Given the description of an element on the screen output the (x, y) to click on. 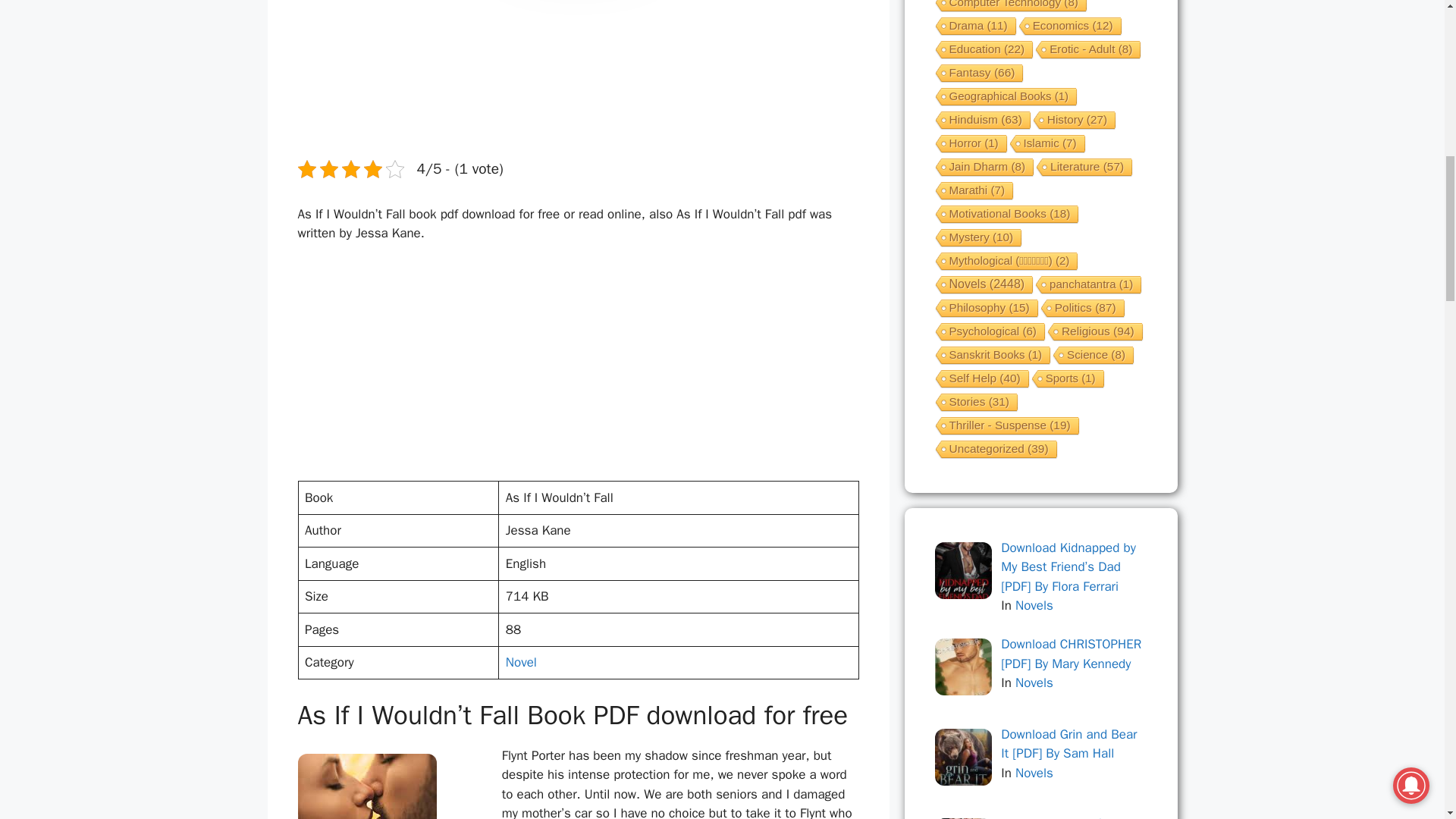
Advertisement (572, 368)
Scroll back to top (1406, 720)
Advertisement (572, 76)
